Given the description of an element on the screen output the (x, y) to click on. 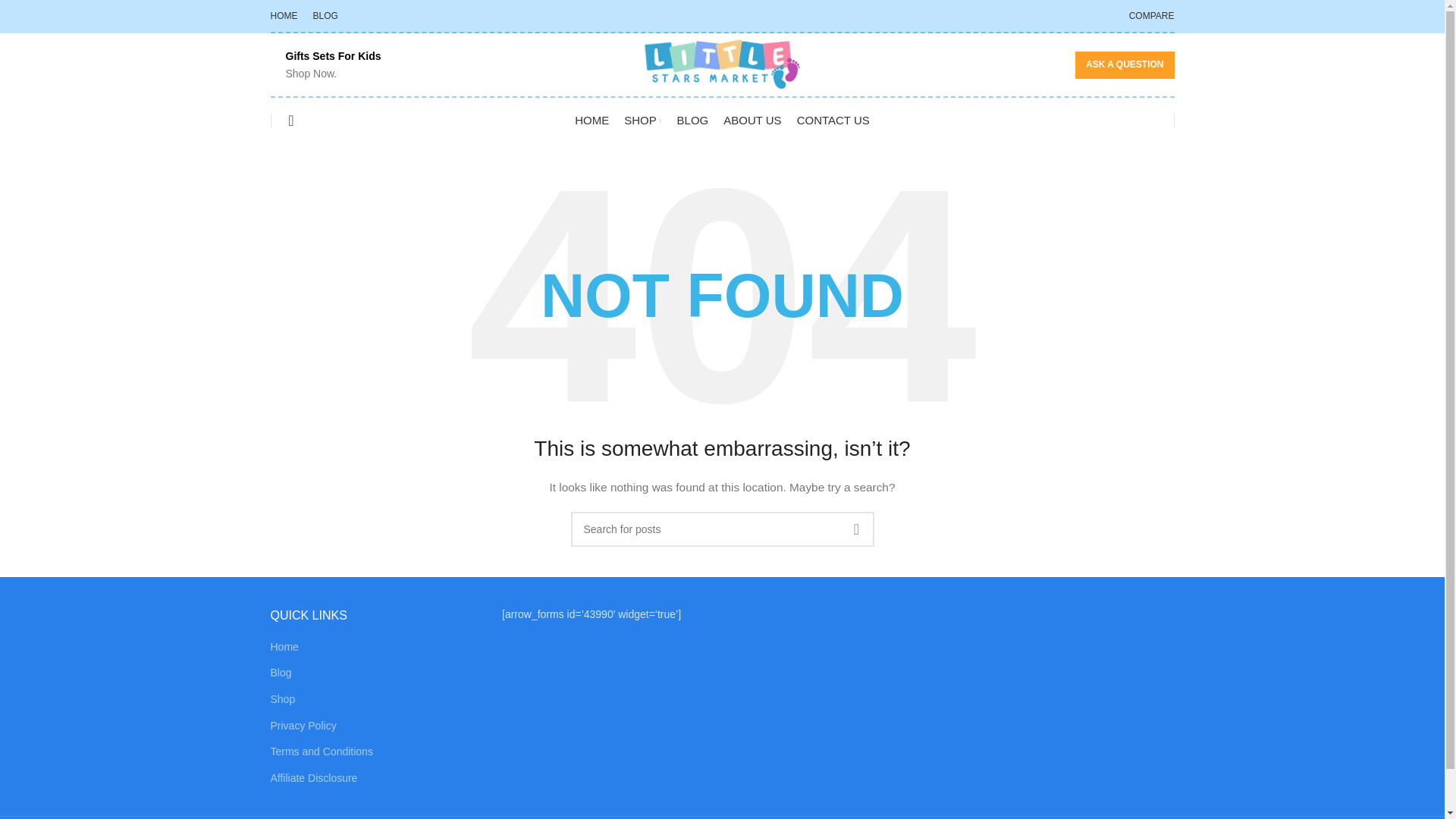
SHOP (642, 120)
COMPARE (1151, 15)
Search for posts (721, 529)
HOME (591, 120)
ASK A QUESTION (1124, 64)
HOME (283, 15)
